Given the description of an element on the screen output the (x, y) to click on. 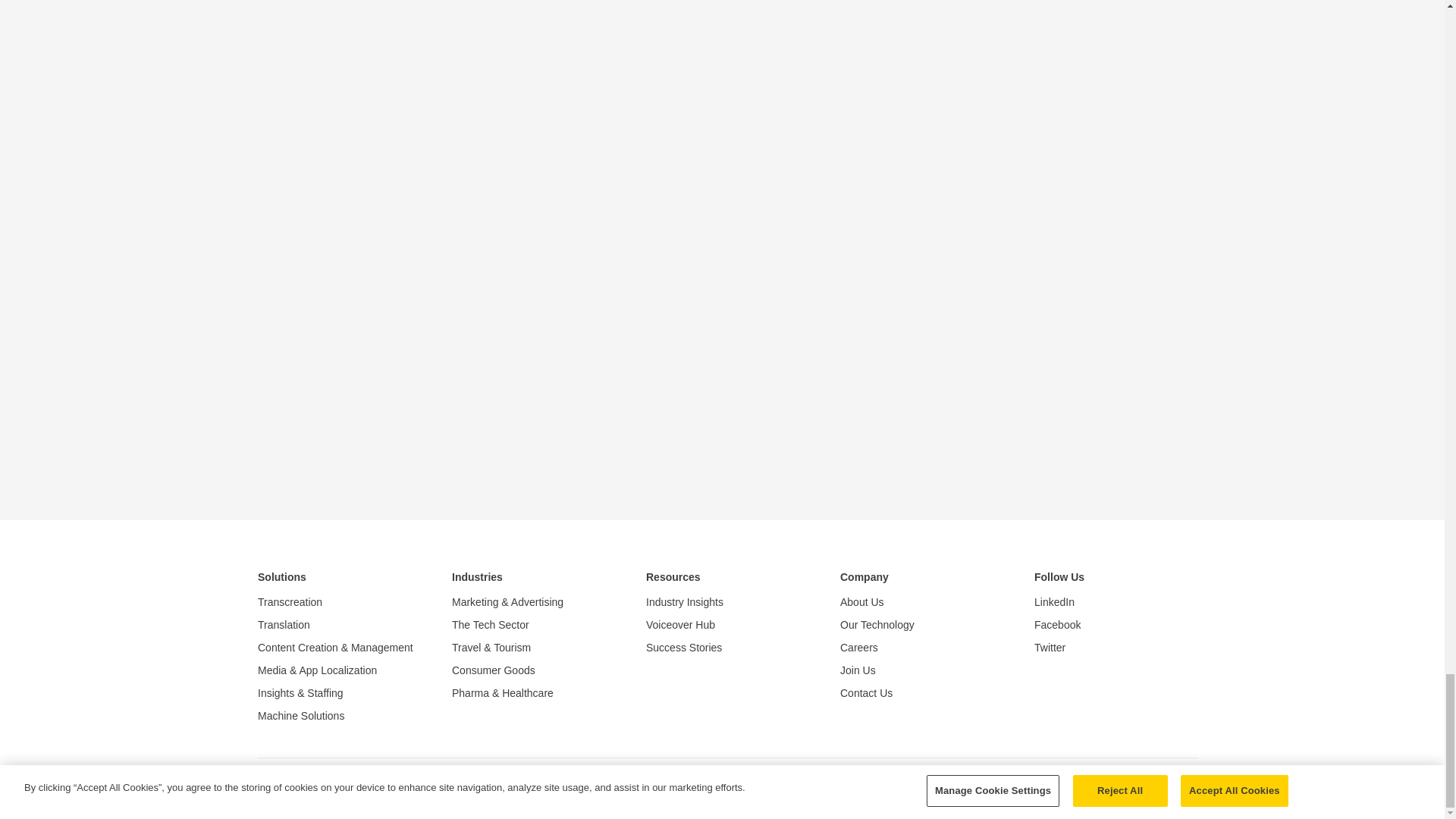
Industry Insights (727, 601)
Consumer Goods (533, 670)
Machine Solutions (339, 715)
Translation (339, 624)
Transcreation (339, 601)
The Tech Sector (533, 624)
Voiceover Hub (727, 624)
